Given the description of an element on the screen output the (x, y) to click on. 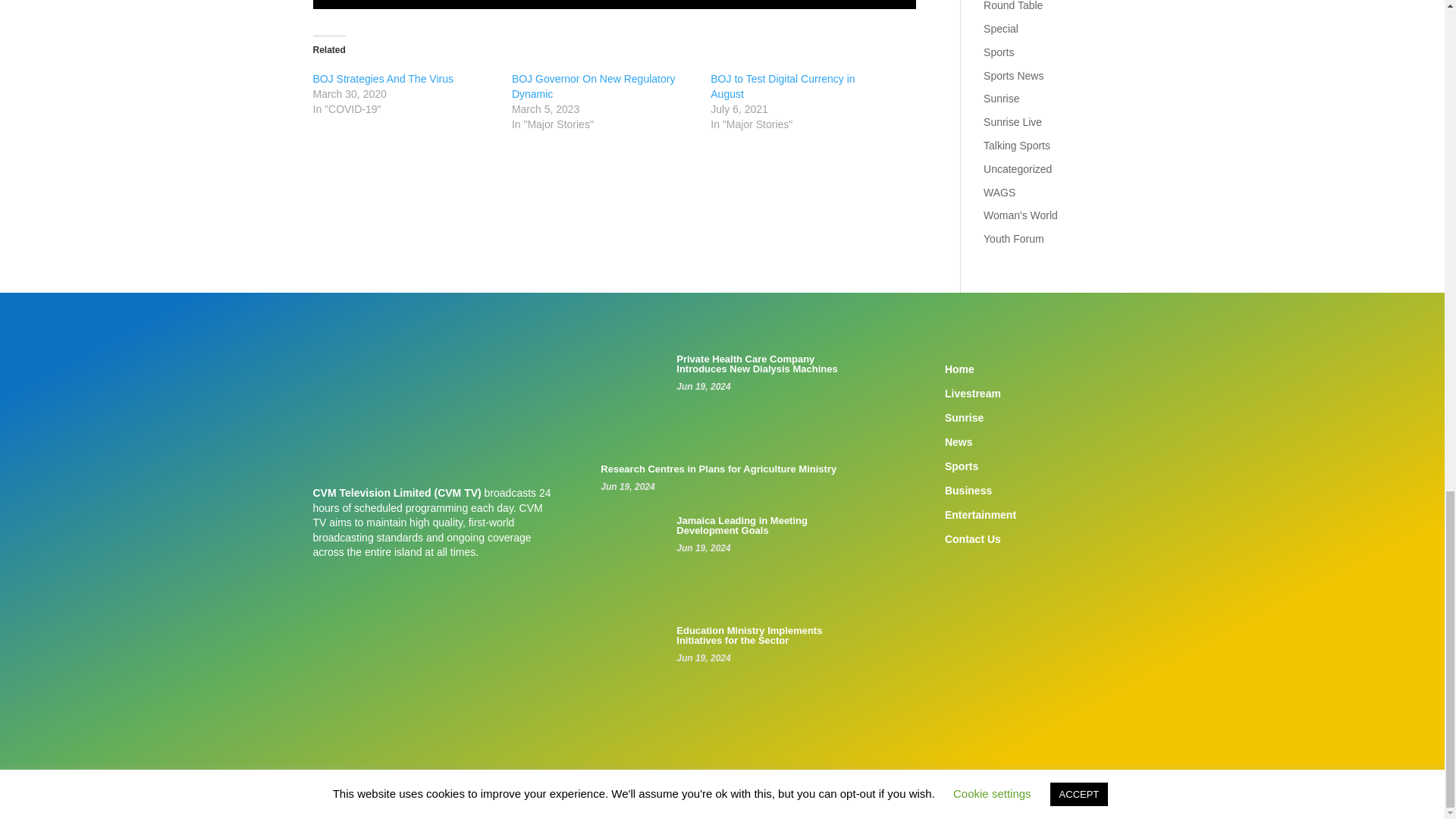
BOJ Governor On New Regulatory Dynamic (593, 85)
BOJ Governor On New Regulatory Dynamic (593, 85)
BOJ to Test Digital Currency in August (782, 85)
BOJ to Test Digital Currency in August (782, 85)
BOJ Strategies And The Virus (382, 78)
BOJ Strategies And The Virus (382, 78)
